Given the description of an element on the screen output the (x, y) to click on. 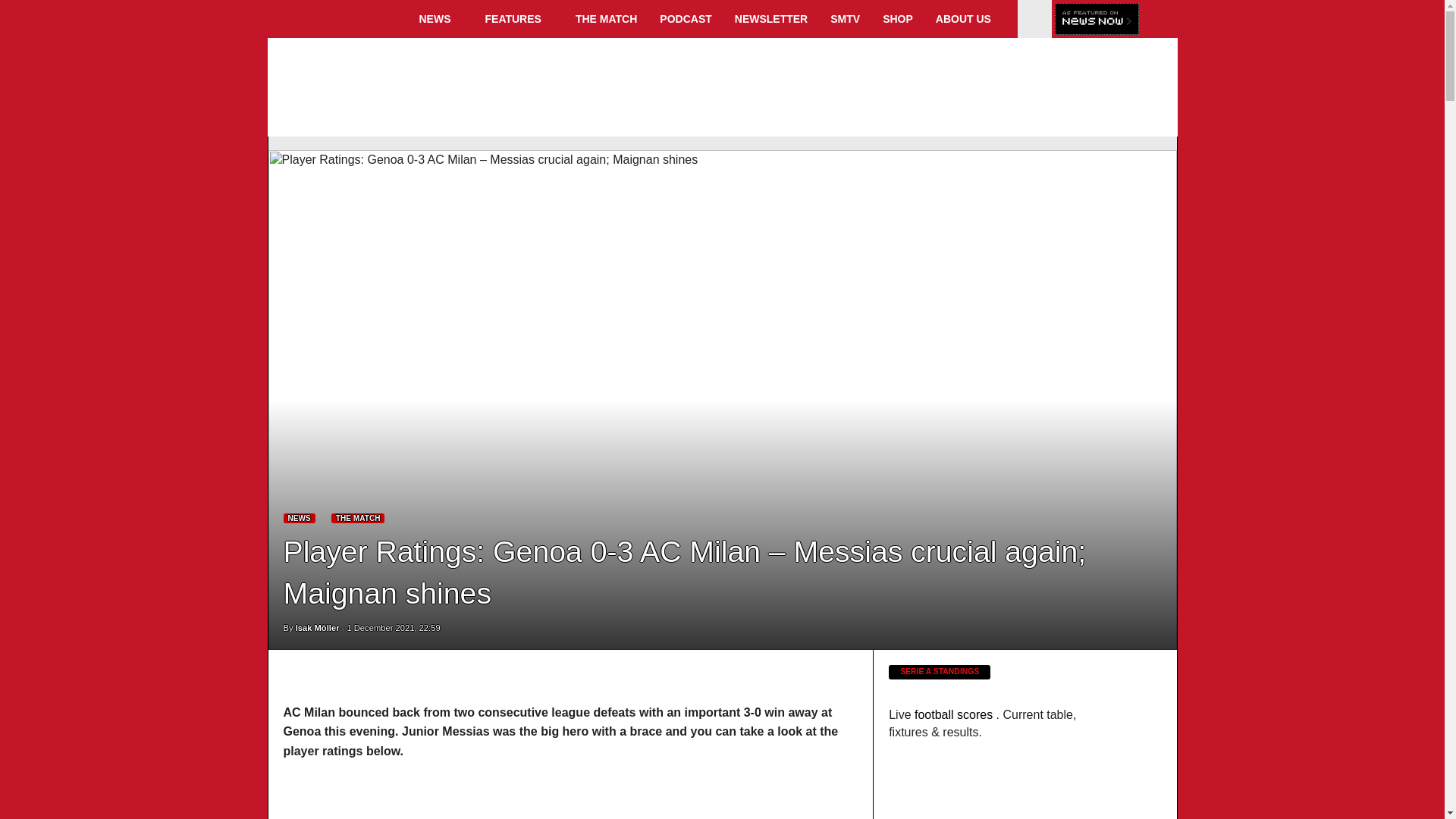
Latest News News (299, 518)
Visit our Italian language site (1034, 27)
THE MATCH (605, 18)
PODCAST (684, 18)
NEWSLETTER (770, 18)
SHOP (897, 18)
FEATURES (518, 18)
ABOUT US (968, 18)
SMTV (844, 18)
Latest The Match News (358, 518)
